Given the description of an element on the screen output the (x, y) to click on. 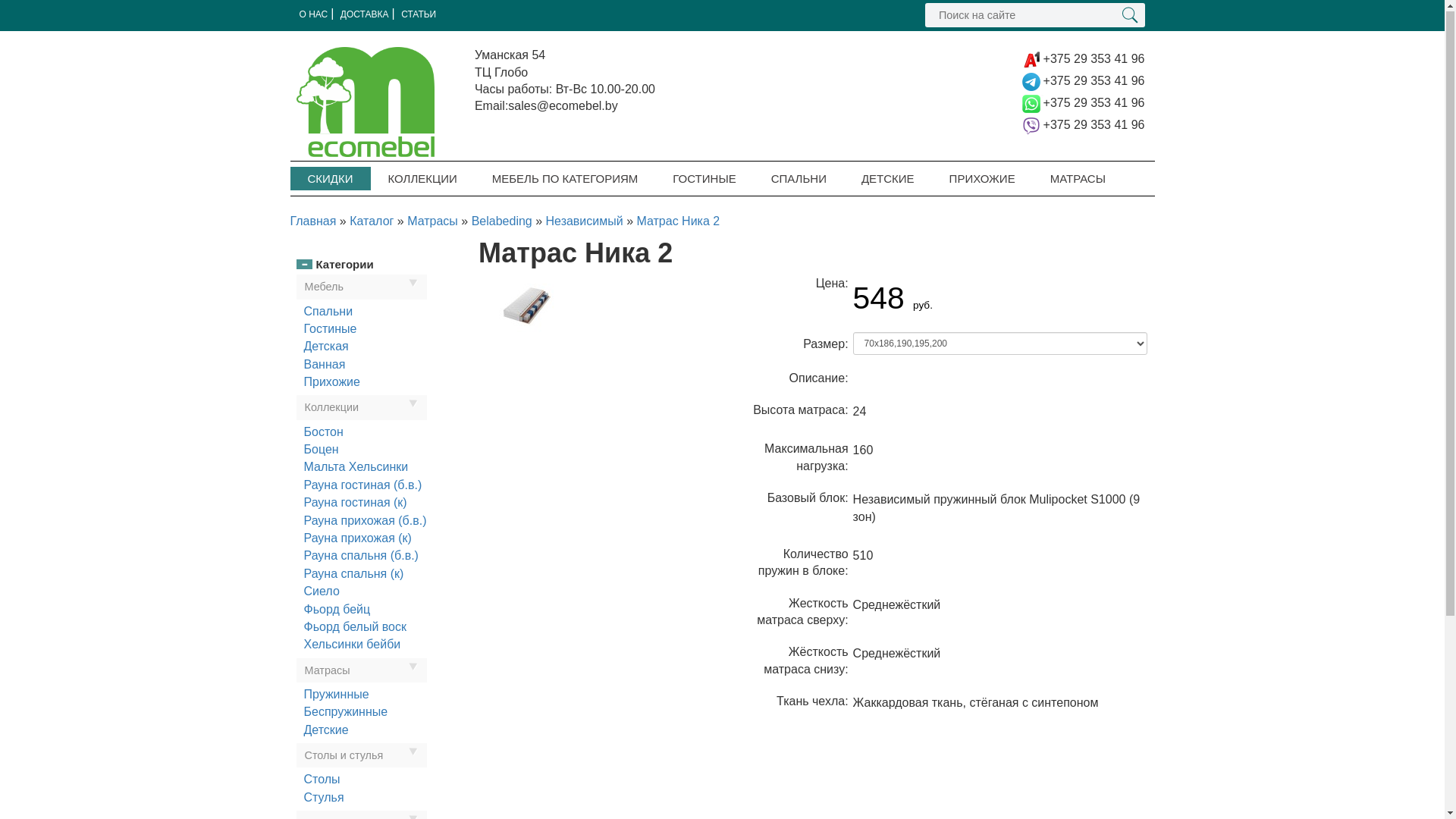
Viber Element type: hover (1031, 125)
Belabeding Element type: text (501, 221)
Telegram Element type: hover (1031, 81)
WhatsApp Element type: hover (1031, 103)
